Given the description of an element on the screen output the (x, y) to click on. 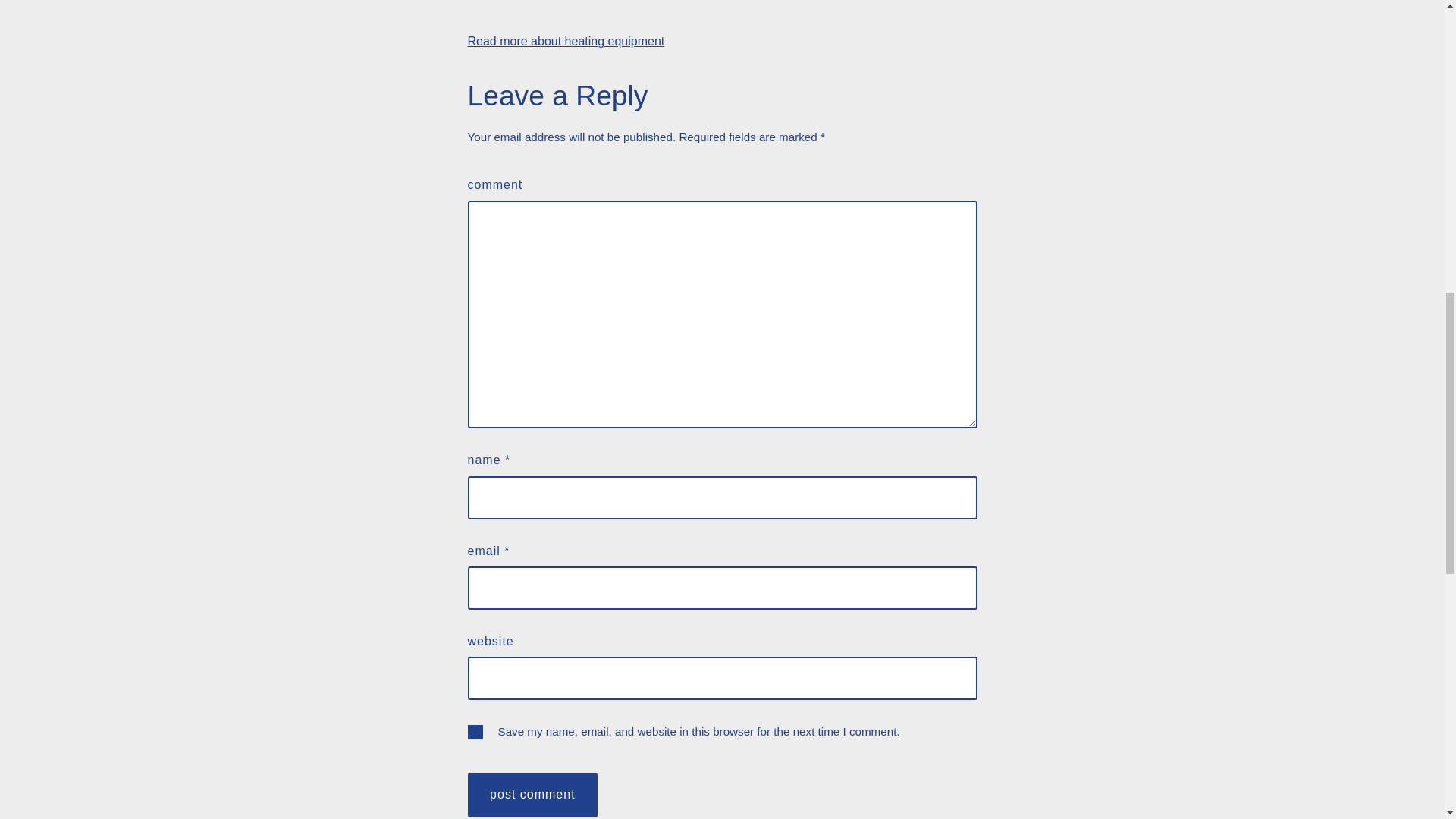
Read more about heating equipment (565, 41)
Post Comment (531, 795)
Post Comment (531, 795)
